Given the description of an element on the screen output the (x, y) to click on. 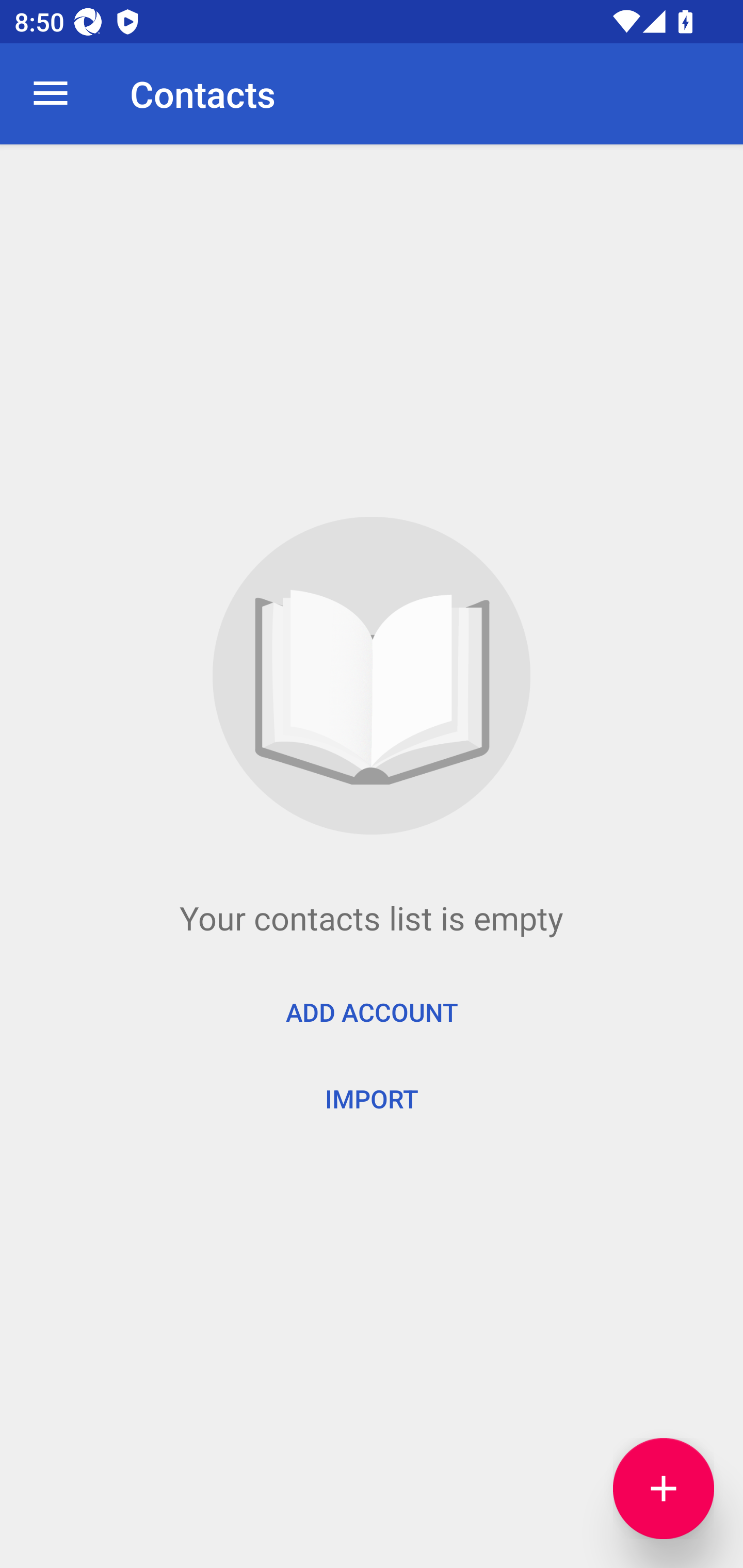
Open navigation drawer (50, 93)
ADD ACCOUNT (371, 1012)
IMPORT (371, 1098)
Create new contact (663, 1488)
